Given the description of an element on the screen output the (x, y) to click on. 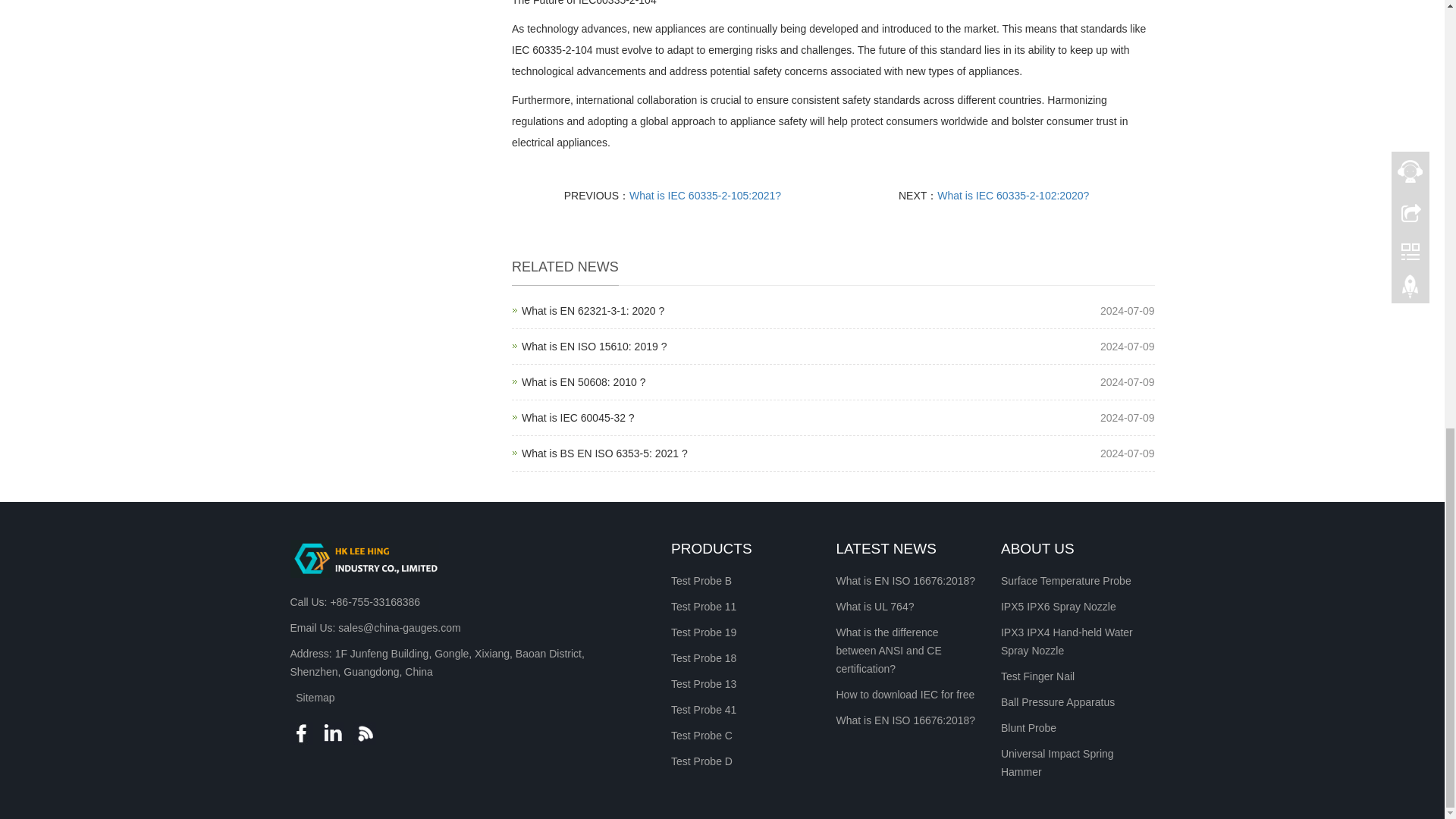
What is EN 62321-3-1: 2020 ? (593, 346)
What is IEC 60335-2-105:2021? (577, 417)
What is IEC 60335-2-102:2020? (592, 310)
